Given the description of an element on the screen output the (x, y) to click on. 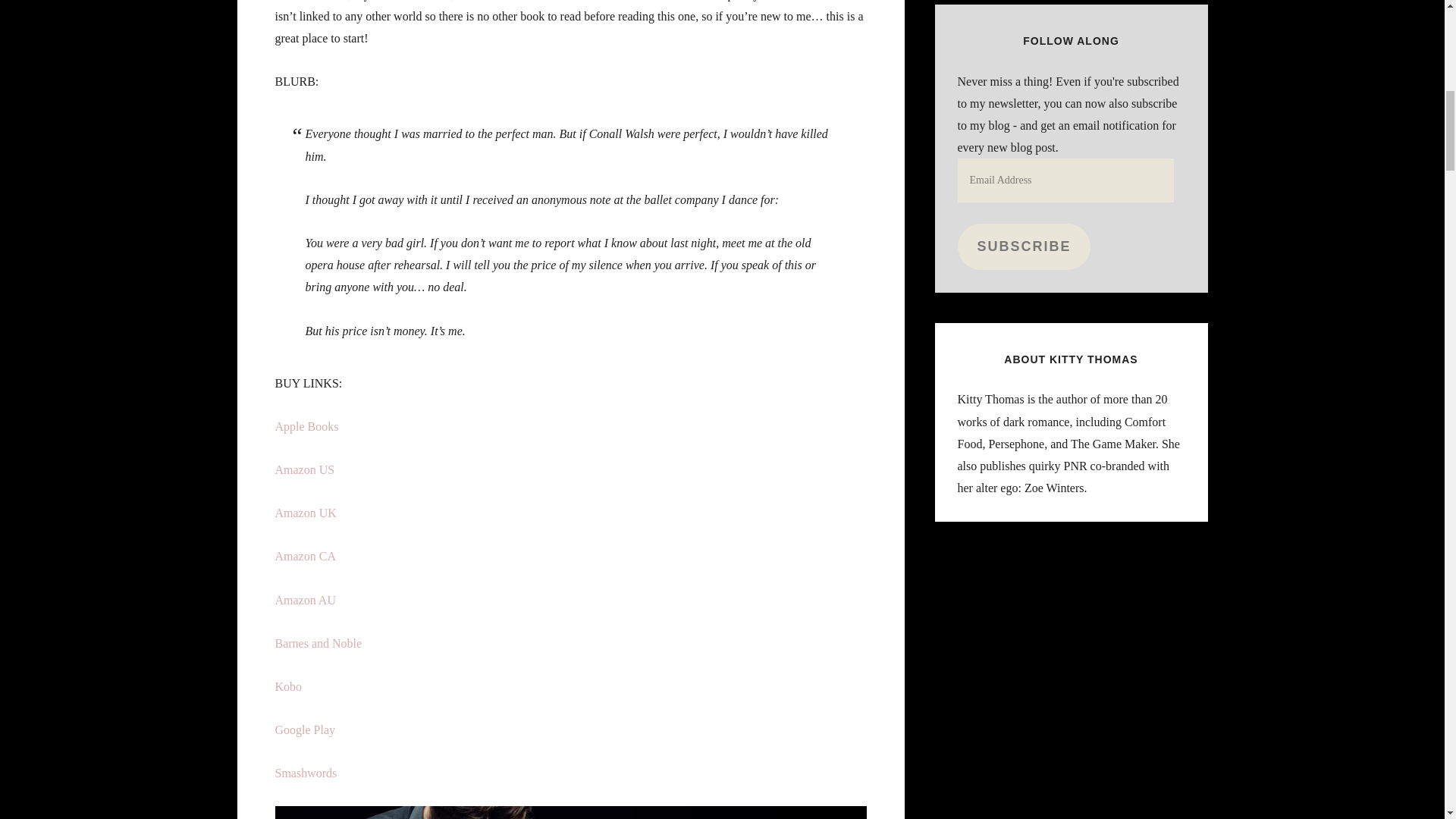
Amazon UK (305, 512)
Apple Books (306, 426)
Amazon US (304, 469)
Barnes and Noble (318, 643)
Amazon AU (304, 599)
Amazon CA (304, 555)
